Given the description of an element on the screen output the (x, y) to click on. 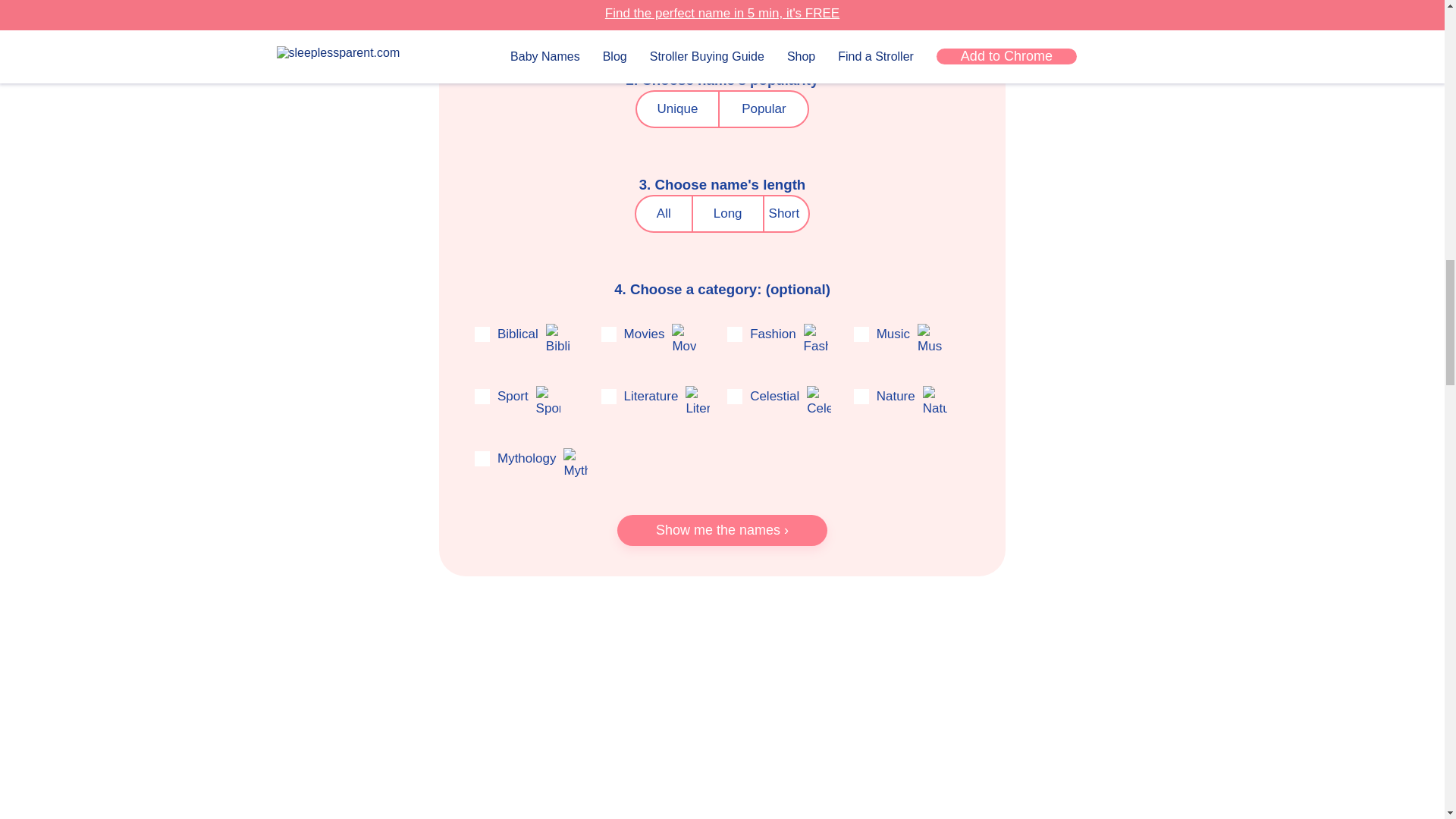
Music (929, 340)
Literature (697, 402)
Sport (547, 402)
Nature (935, 402)
Celestial (818, 402)
Mythology (575, 464)
Biblical (558, 340)
Fashion (815, 340)
Movies (683, 340)
